Given the description of an element on the screen output the (x, y) to click on. 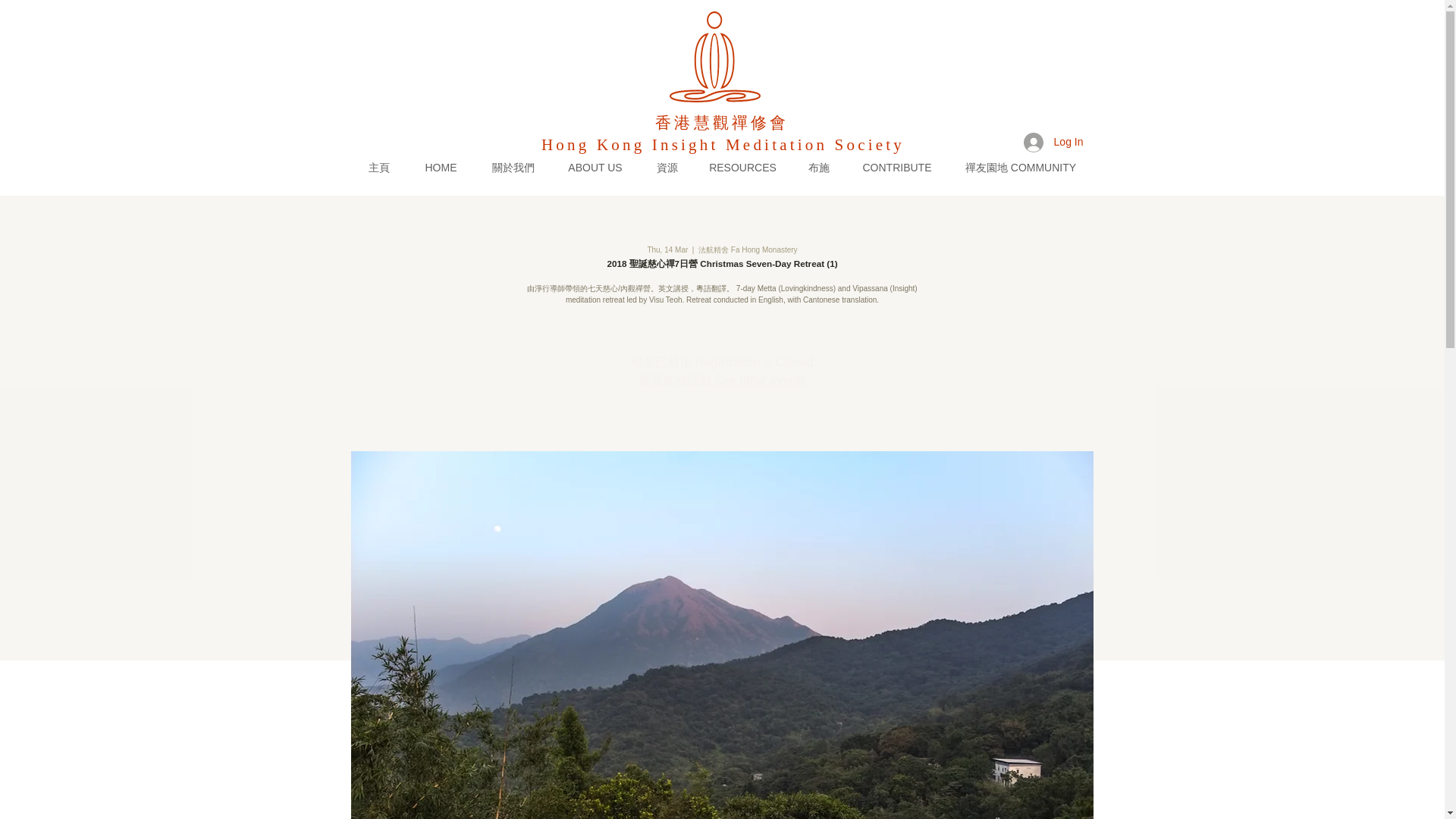
CONTRIBUTE (896, 167)
Log In (1053, 142)
HOME (440, 167)
